Given the description of an element on the screen output the (x, y) to click on. 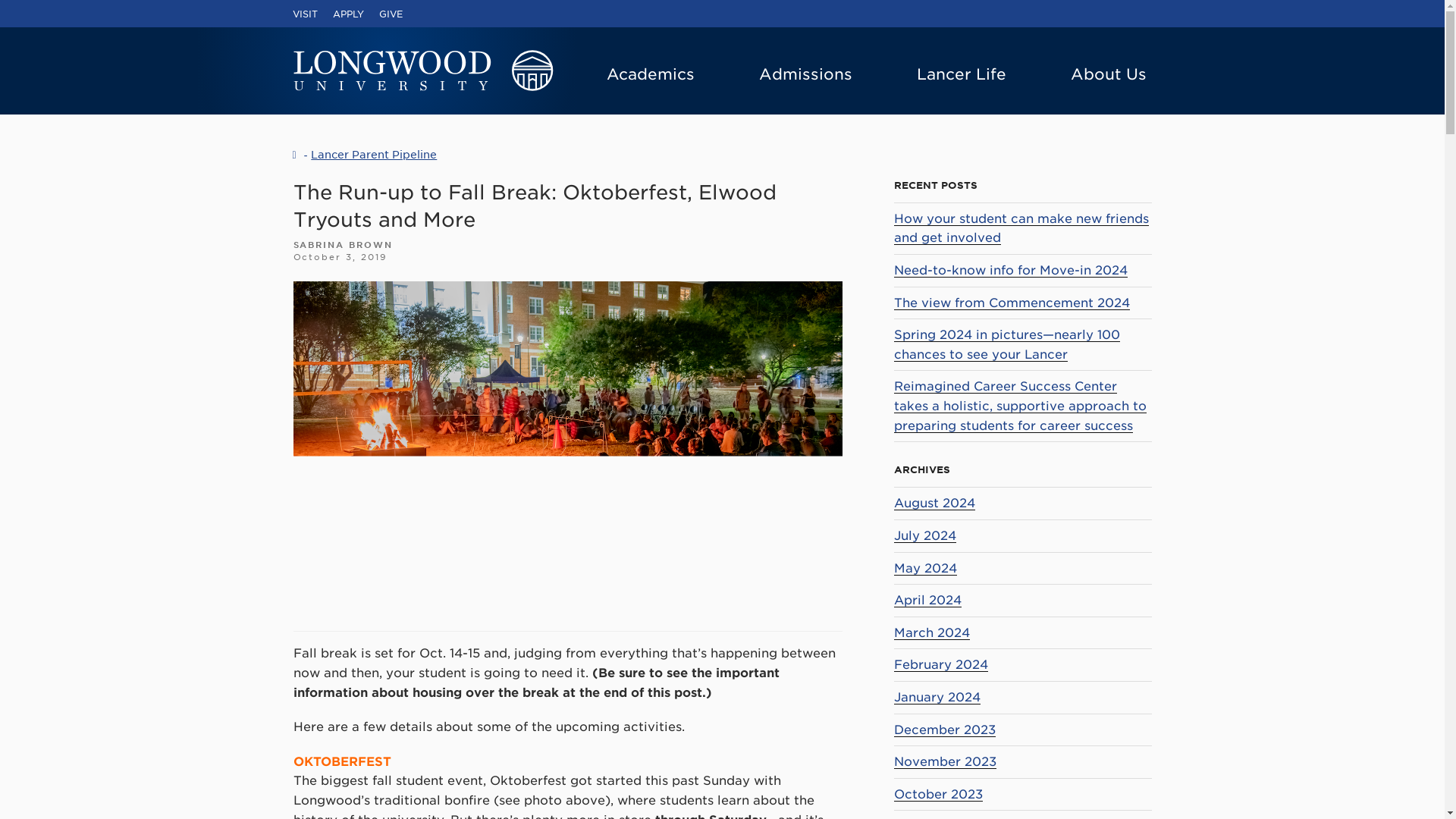
About Us (1108, 74)
July 2024 (924, 535)
VISIT (304, 13)
February 2024 (940, 664)
GIVE (390, 13)
November 2023 (944, 761)
April 2024 (926, 599)
Lancer Parent Pipeline (373, 154)
May 2024 (924, 568)
